Given the description of an element on the screen output the (x, y) to click on. 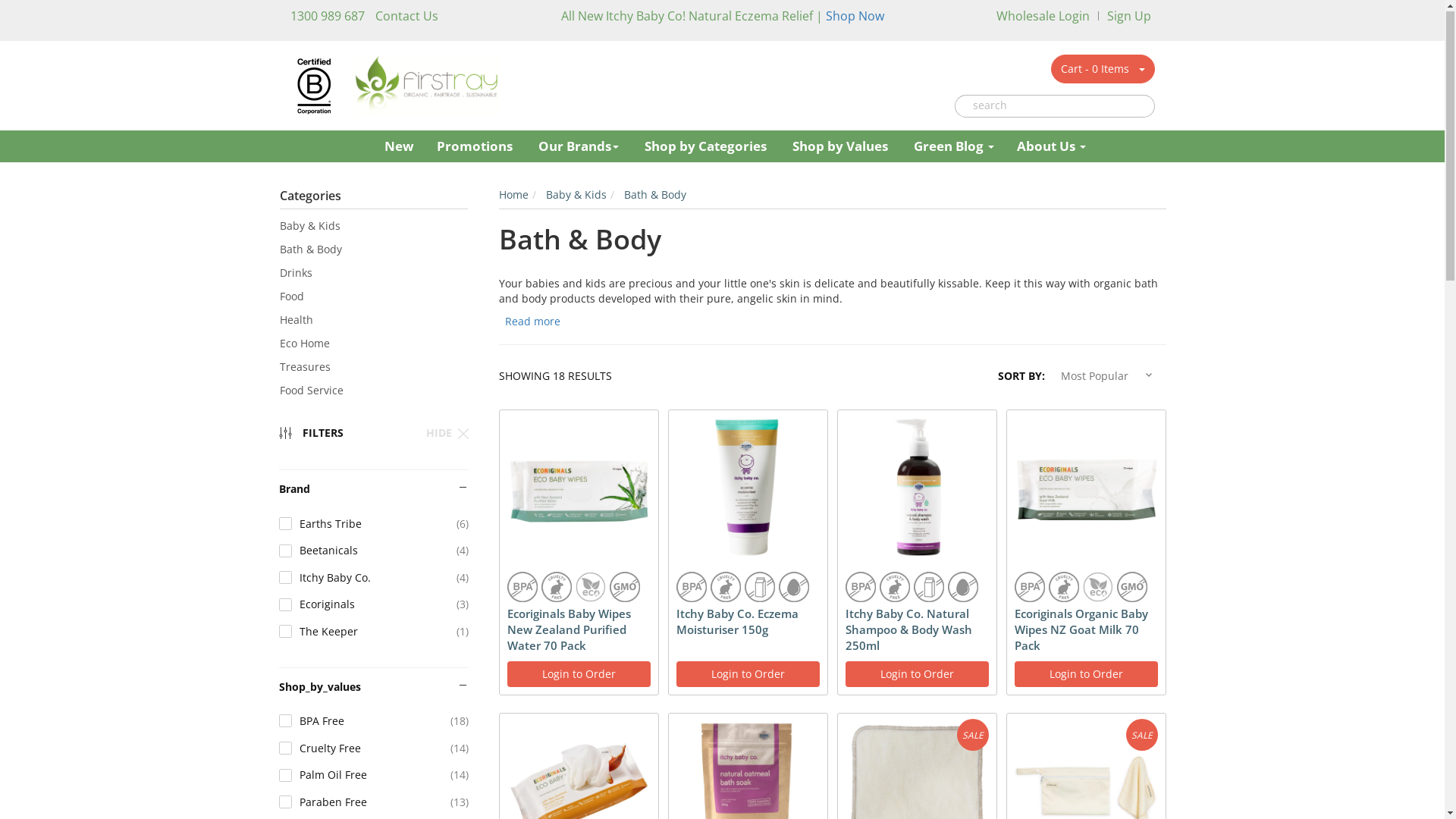
BPA Free
(18) Element type: text (373, 721)
Shop Now Element type: text (854, 16)
Our Brands Element type: text (578, 146)
Itchy Baby Co.
(4) Element type: text (373, 578)
1300 989 687 Element type: text (326, 16)
Cruelty Free
(14) Element type: text (373, 748)
Earths Tribe
(6) Element type: text (373, 524)
Ecoriginals Baby Wipes New Zealand Purified Water 70 Pack Element type: text (577, 630)
Itchy Baby Co. Natural Shampoo & Body Wash 250ml Element type: text (916, 630)
Treasures Element type: text (373, 367)
The Keeper
(1) Element type: text (373, 632)
Health Element type: text (373, 320)
Login to Order Element type: text (916, 674)
Search Element type: text (962, 106)
HIDE Element type: text (441, 433)
Brand Element type: text (373, 496)
Ecoriginals Organic Baby Wipes NZ Goat Milk 70 Pack Element type: text (1085, 630)
Bath & Body Element type: text (373, 250)
Green Blog Element type: text (953, 146)
Drinks Element type: text (373, 273)
Login to Order Element type: text (747, 674)
Promotions Element type: text (474, 146)
Itchy Baby Co. Eczema Moisturiser 150g Element type: text (747, 622)
Baby & Kids Element type: text (373, 226)
Home Element type: text (513, 195)
Shop by Categories Element type: text (705, 146)
Beetanicals
(4) Element type: text (373, 550)
Shop by Values Element type: text (840, 146)
 Read more Element type: text (531, 321)
Contact Us Element type: text (405, 16)
Cart - 0 Items Element type: text (1090, 69)
About Us Element type: text (1045, 146)
Wholesale Login Element type: text (1042, 16)
Ecoriginals
(3) Element type: text (373, 604)
Welcome to First Ray Element type: hover (425, 85)
Bath & Body Element type: text (654, 195)
Most Popular Element type: text (1109, 375)
Login to Order Element type: text (577, 674)
Food Service Element type: text (373, 391)
Login to Order Element type: text (1085, 674)
Food Element type: text (373, 297)
Baby & Kids Element type: text (576, 195)
Shop_By_Values Element type: text (373, 694)
First Ray Element type: hover (364, 143)
Palm Oil Free
(14) Element type: text (373, 775)
Eco Home Element type: text (373, 344)
Paraben Free
(13) Element type: text (373, 802)
Sign Up Element type: text (1129, 16)
New Element type: text (399, 146)
